Given the description of an element on the screen output the (x, y) to click on. 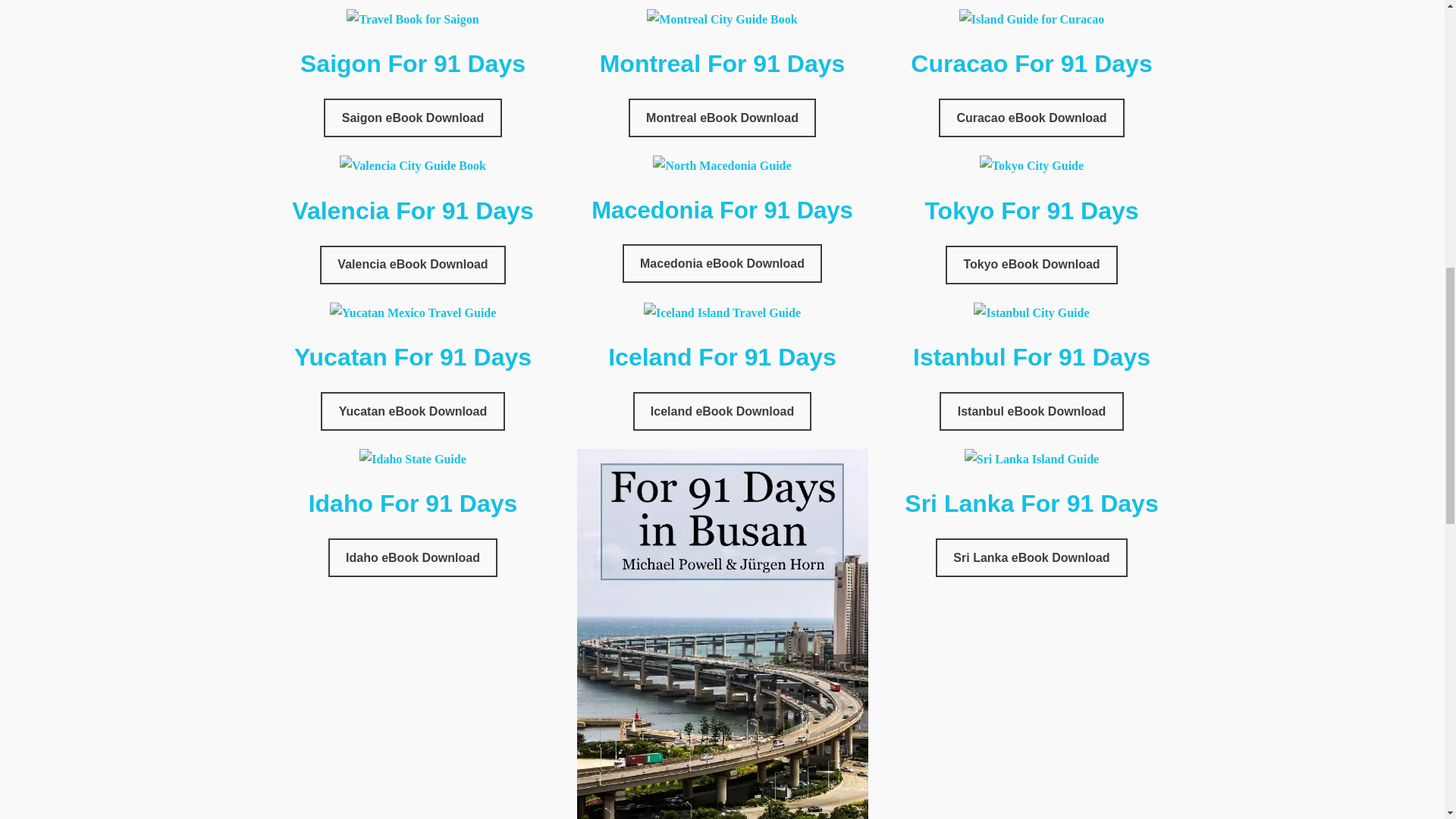
Our Travel eBooks 11 (413, 312)
Our Travel eBooks 5 (412, 19)
Istanbul eBook Download (1030, 411)
Macedonia eBook Download (722, 263)
Iceland eBook Download (722, 411)
Our Travel eBooks 10 (1031, 165)
Our Travel eBooks 9 (721, 165)
Our Travel eBooks 6 (721, 19)
Tokyo eBook Download (1031, 264)
Saigon eBook Download (411, 117)
